Given the description of an element on the screen output the (x, y) to click on. 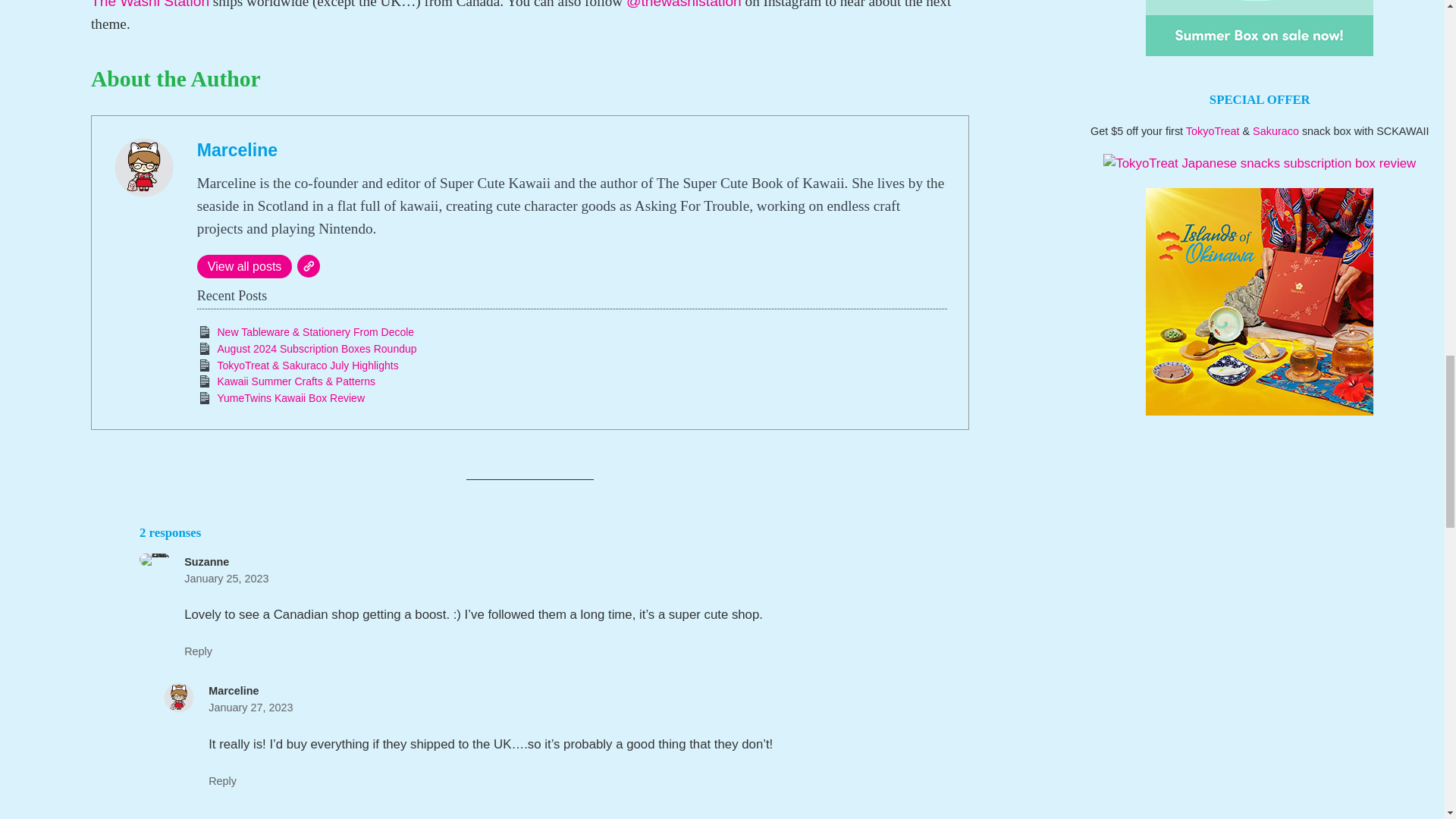
Marceline (237, 149)
View all posts (244, 266)
August 2024 Subscription Boxes Roundup (316, 348)
YumeTwins Kawaii Box Review (290, 398)
